Given the description of an element on the screen output the (x, y) to click on. 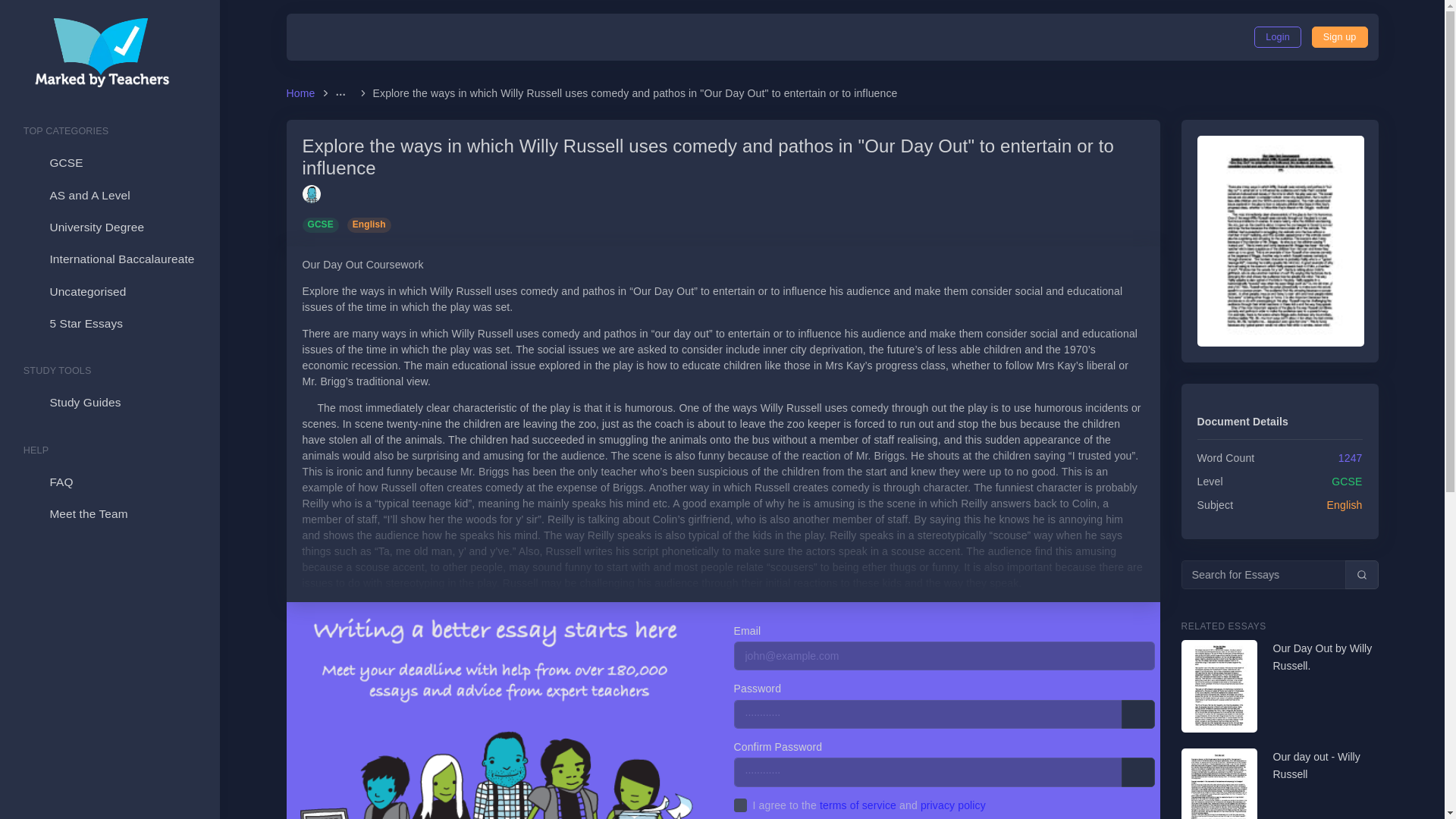
Login (1277, 36)
GCSE (323, 223)
English (369, 223)
GCSE (1346, 481)
University Degree (109, 227)
Our Day Out by Willy Russell. (1324, 656)
GCSE (109, 163)
FAQ (109, 481)
Uncategorised (109, 291)
Study Guides (109, 402)
Study Guides (109, 402)
Home (302, 92)
University Degree (109, 227)
Quick search (1361, 574)
GCSE (109, 163)
